Given the description of an element on the screen output the (x, y) to click on. 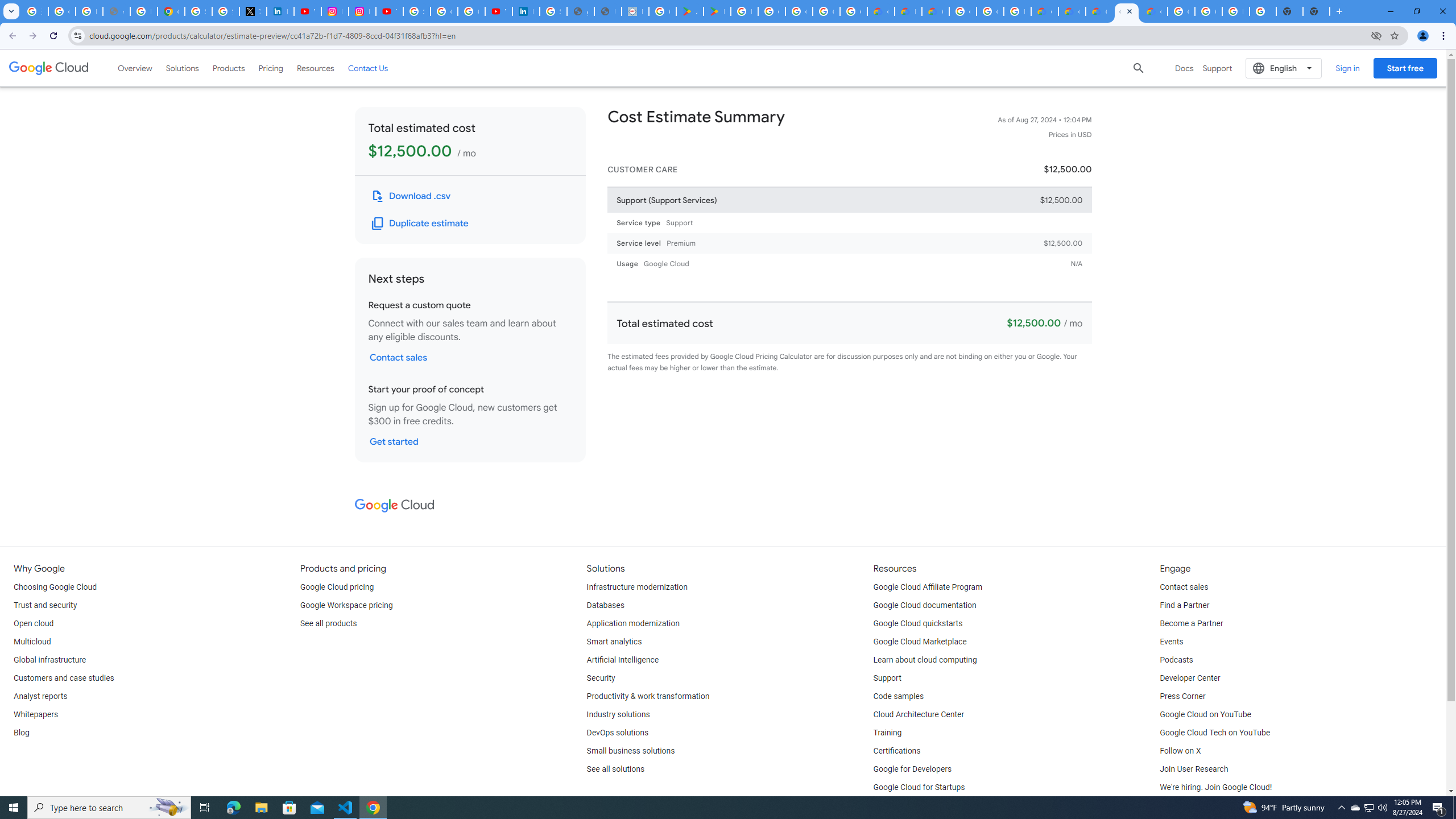
Contact sales (1183, 587)
Events (1170, 642)
Small business solutions (630, 751)
Sign in - Google Accounts (197, 11)
Google Cloud Platform (990, 11)
LinkedIn Privacy Policy (280, 11)
See all solutions (615, 769)
Productivity & work transformation (648, 696)
See all products (327, 624)
We're hiring. Join Google Cloud! (1215, 787)
Google Cloud documentation (924, 605)
